Given the description of an element on the screen output the (x, y) to click on. 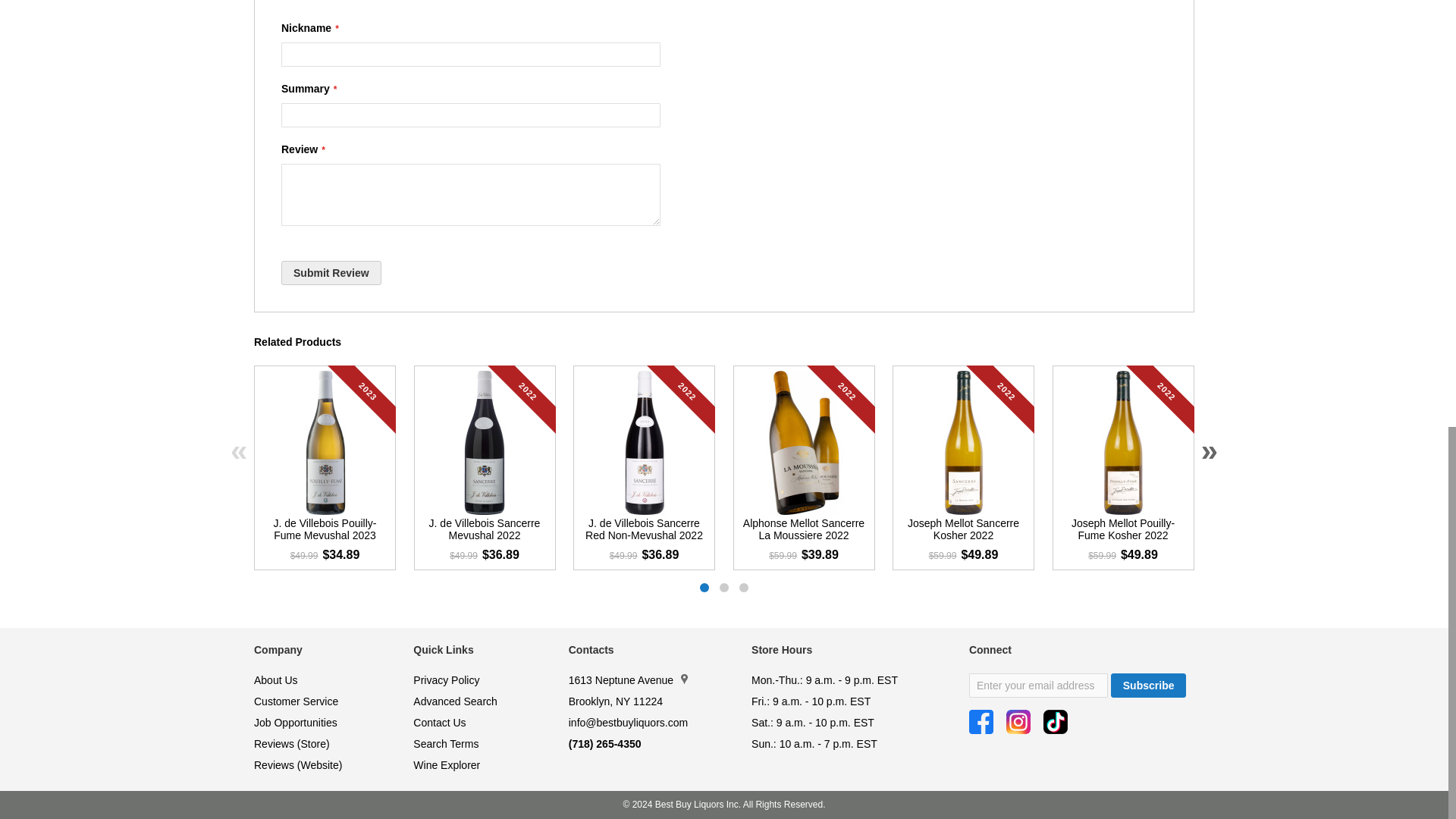
J. de Villebois Sancerre Mevushal 2022 (484, 531)
J. de Villebois Sancerre Red Non-Mevushal 2022 (643, 531)
J. de Villebois Pouilly-Fume Mevushal 2023 (324, 531)
